Given the description of an element on the screen output the (x, y) to click on. 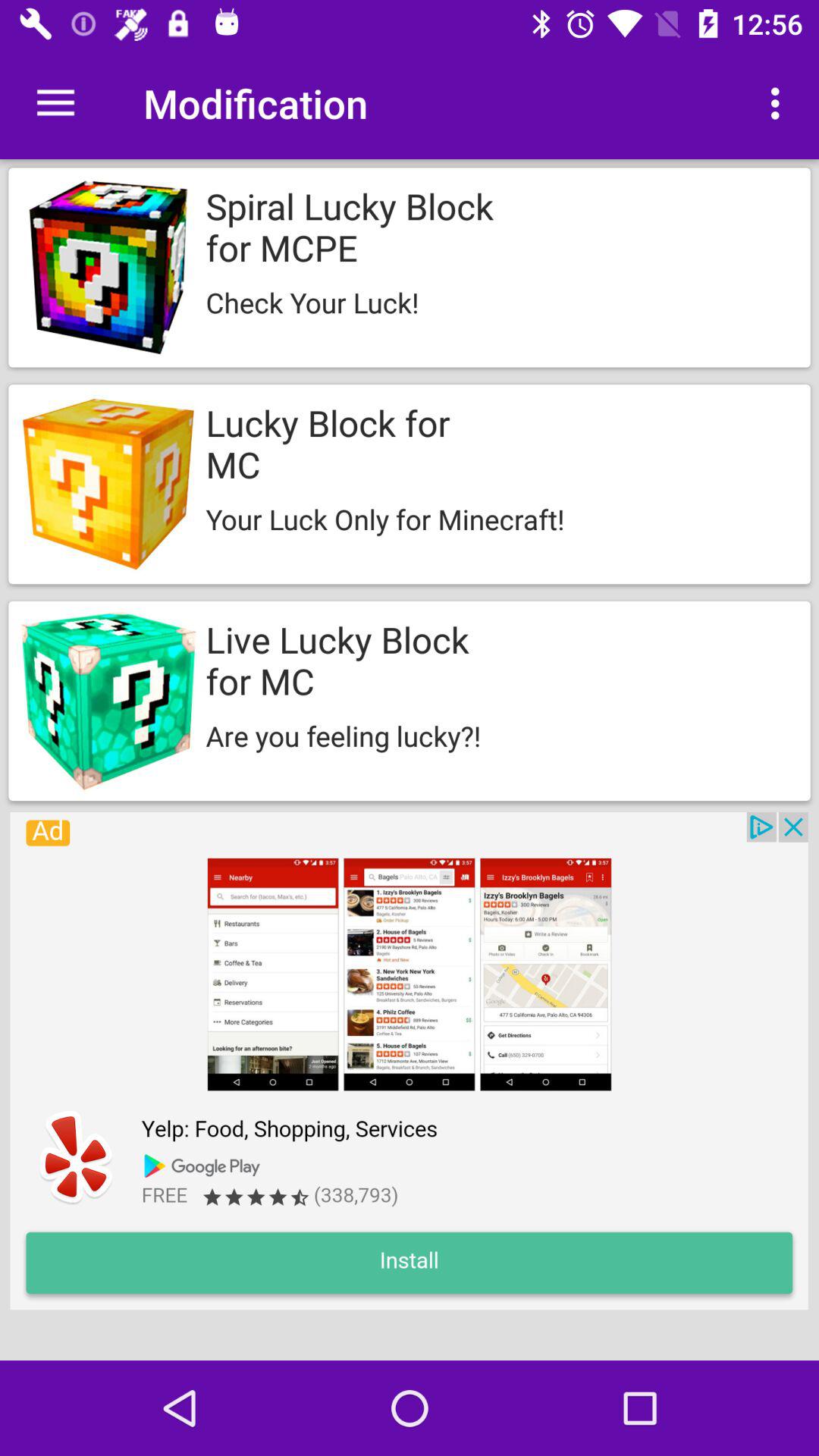
open (409, 1060)
